Given the description of an element on the screen output the (x, y) to click on. 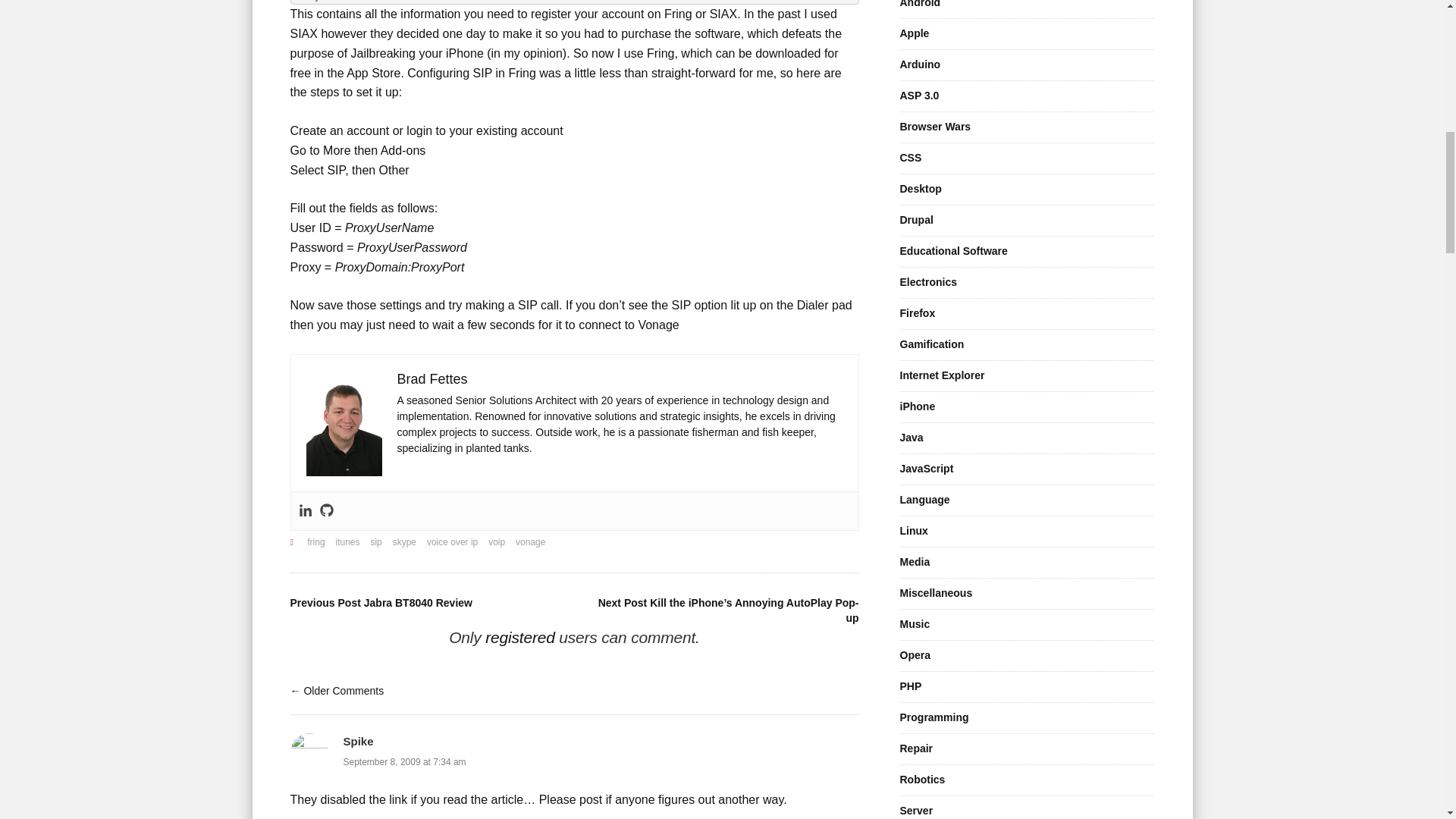
voip (496, 542)
sip (375, 542)
vonage (529, 542)
September 8, 2009 at 7:34 am (403, 761)
fring (315, 542)
SIAX (723, 13)
Linkedin (305, 510)
skype (404, 542)
Fring (677, 13)
itunes (346, 542)
